Given the description of an element on the screen output the (x, y) to click on. 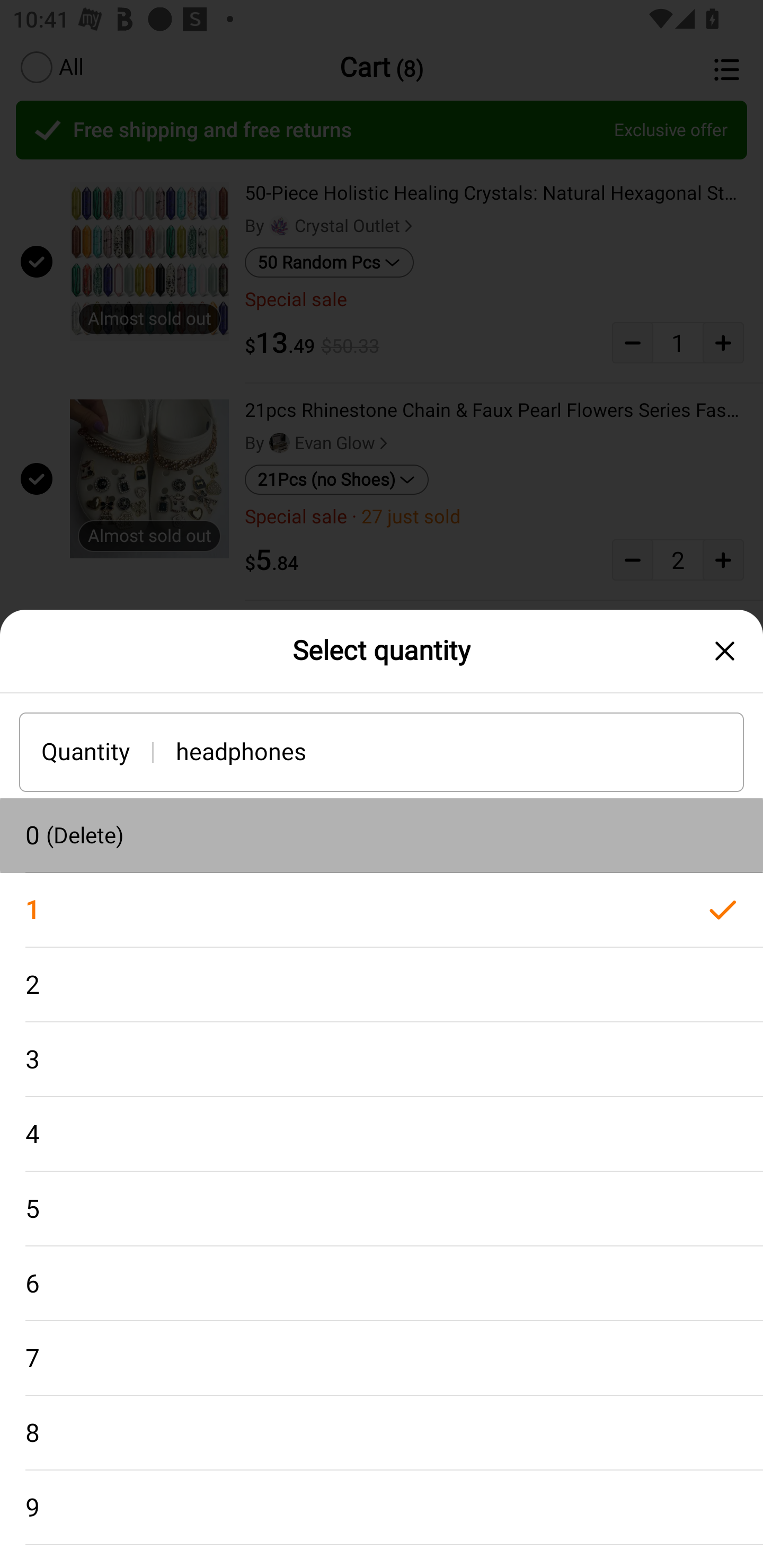
close (724, 650)
headphones (459, 751)
0 (Delete) (381, 835)
1 (381, 910)
2 (381, 984)
3 (381, 1059)
4 (381, 1134)
5 (381, 1208)
6 (381, 1283)
7 (381, 1358)
8 (381, 1432)
9 (381, 1507)
